Given the description of an element on the screen output the (x, y) to click on. 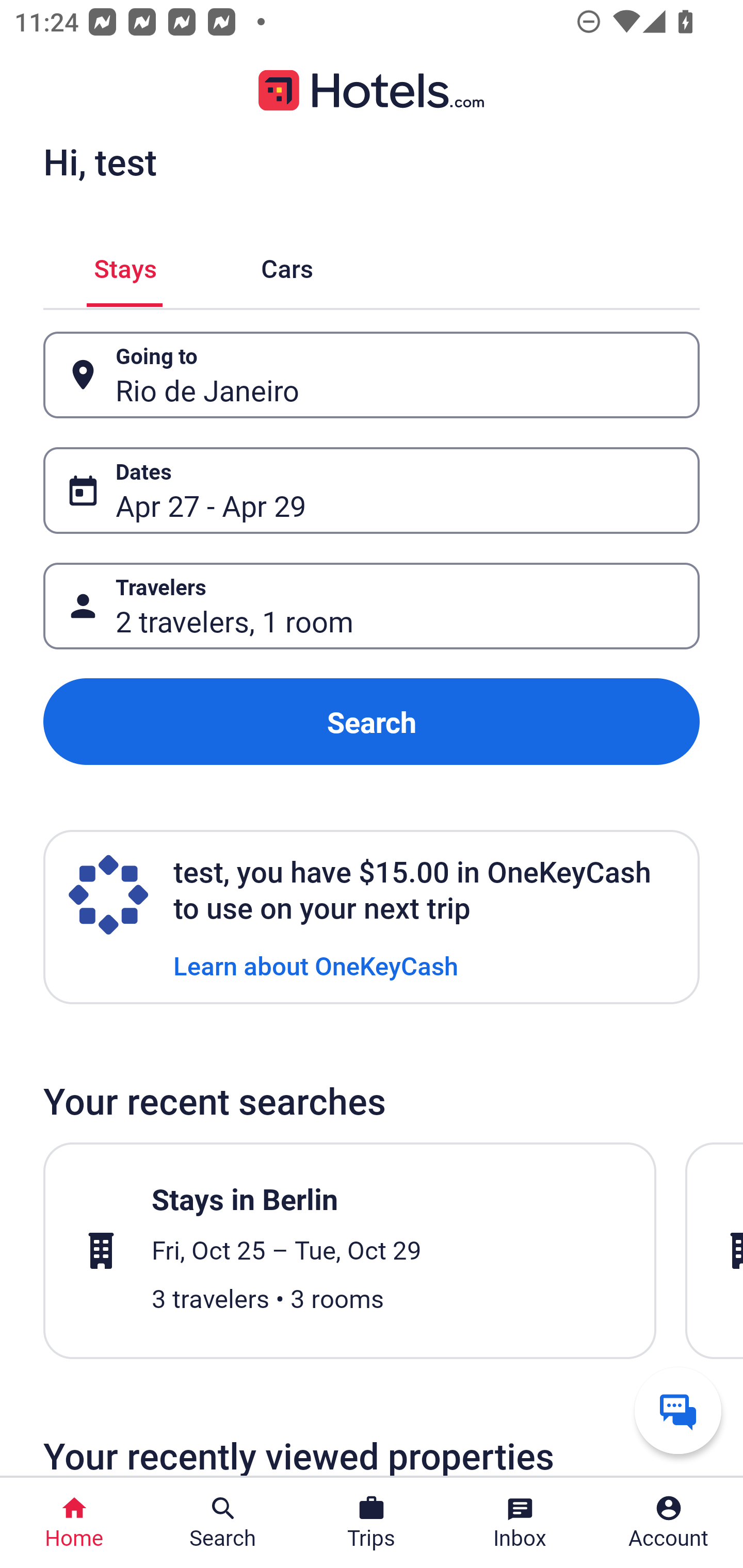
Hi, test (99, 161)
Cars (286, 265)
Going to Button Rio de Janeiro (371, 375)
Dates Button Apr 27 - Apr 29 (371, 489)
Travelers Button 2 travelers, 1 room (371, 605)
Search (371, 721)
Learn about OneKeyCash Learn about OneKeyCash Link (315, 964)
Get help from a virtual agent (677, 1410)
Search Search Button (222, 1522)
Trips Trips Button (371, 1522)
Inbox Inbox Button (519, 1522)
Account Profile. Button (668, 1522)
